Given the description of an element on the screen output the (x, y) to click on. 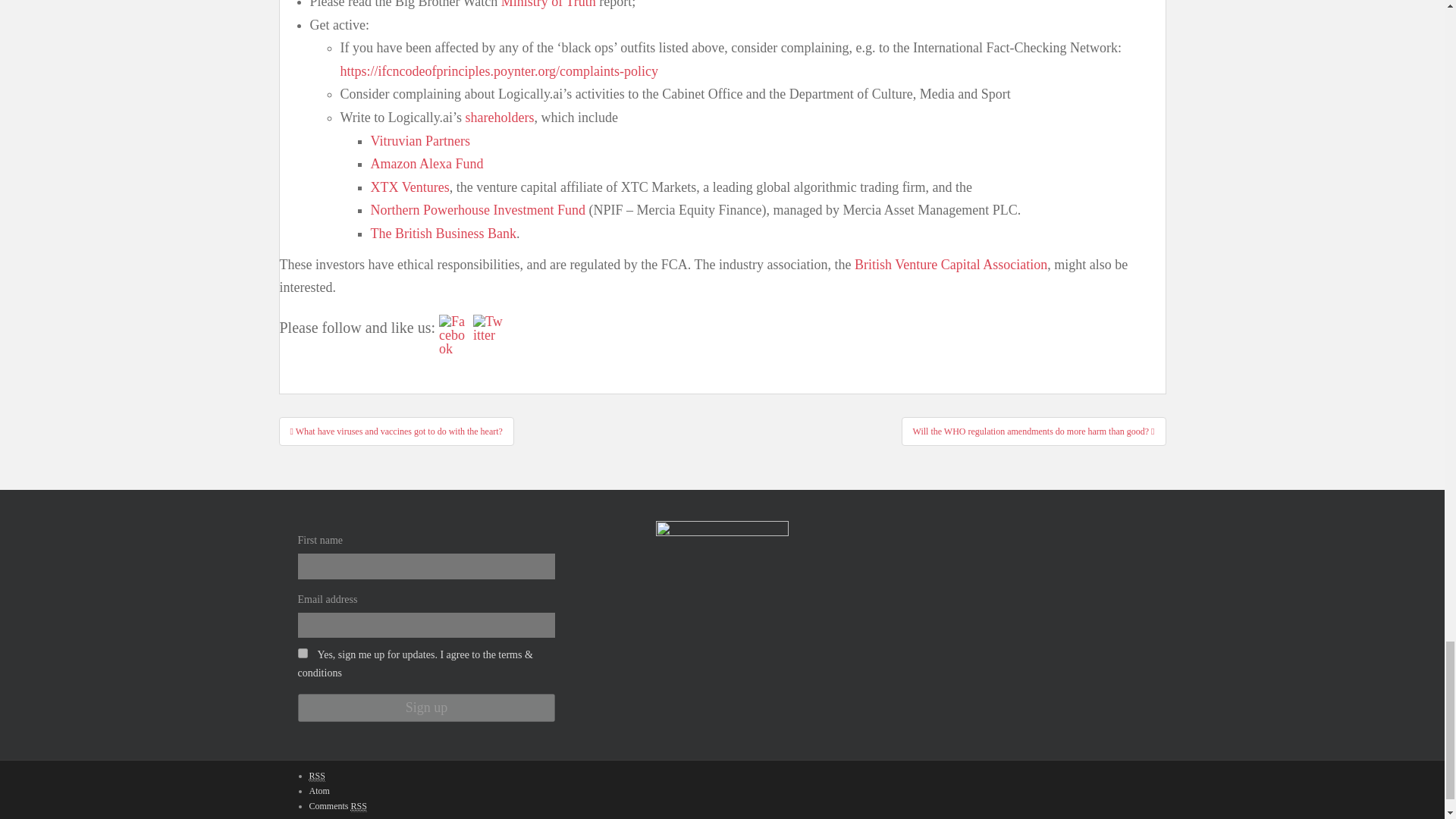
Twitter (488, 328)
Really Simple Syndication (358, 806)
Sign up (425, 707)
1 (302, 653)
Syndicate this site using RSS (316, 776)
The latest comments to all posts in RSS (337, 806)
Syndicate this site using Atom (319, 790)
